Given the description of an element on the screen output the (x, y) to click on. 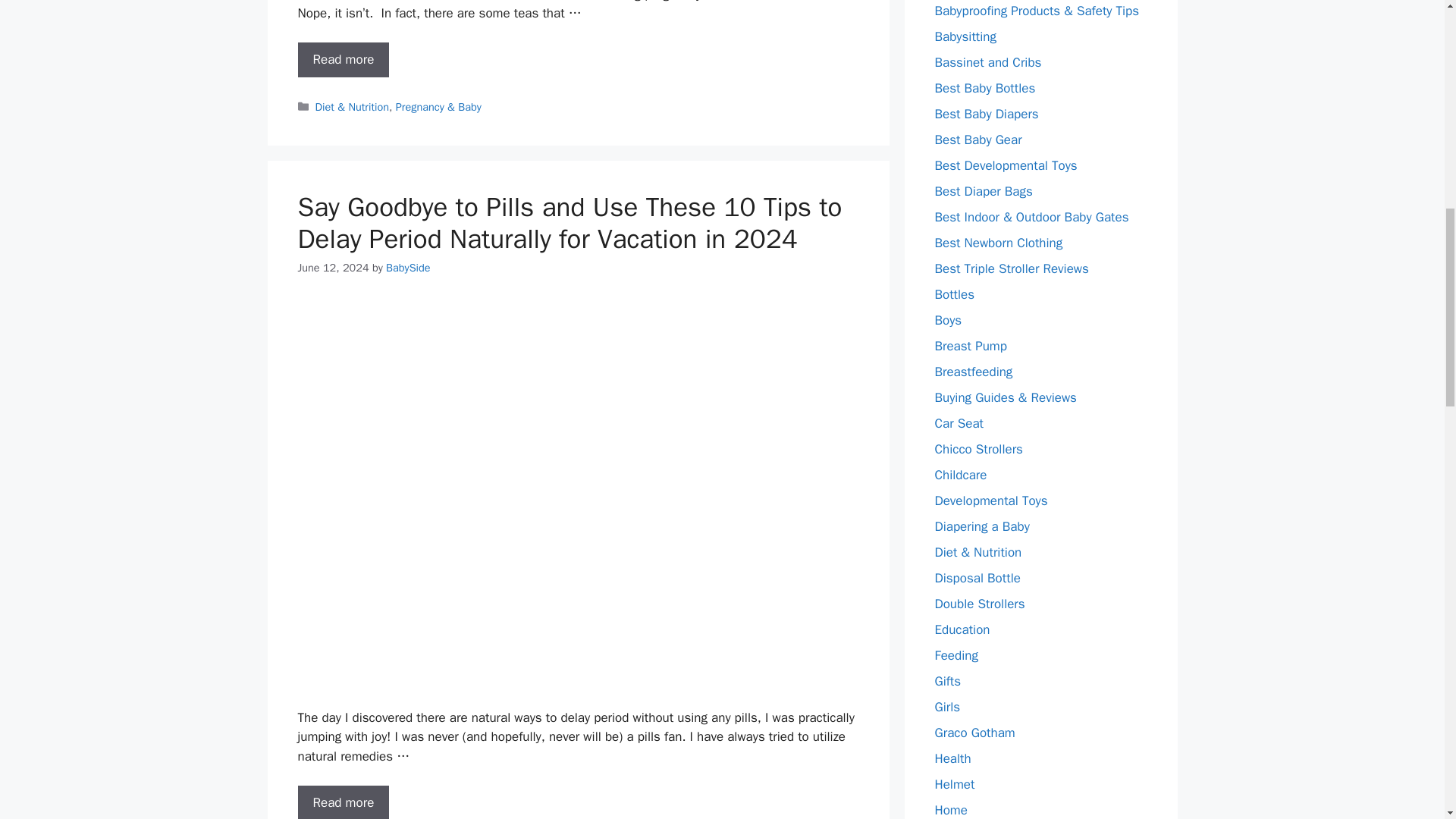
View all posts by BabySide (407, 267)
Read more (342, 802)
Read more (342, 59)
BabySide (407, 267)
